Given the description of an element on the screen output the (x, y) to click on. 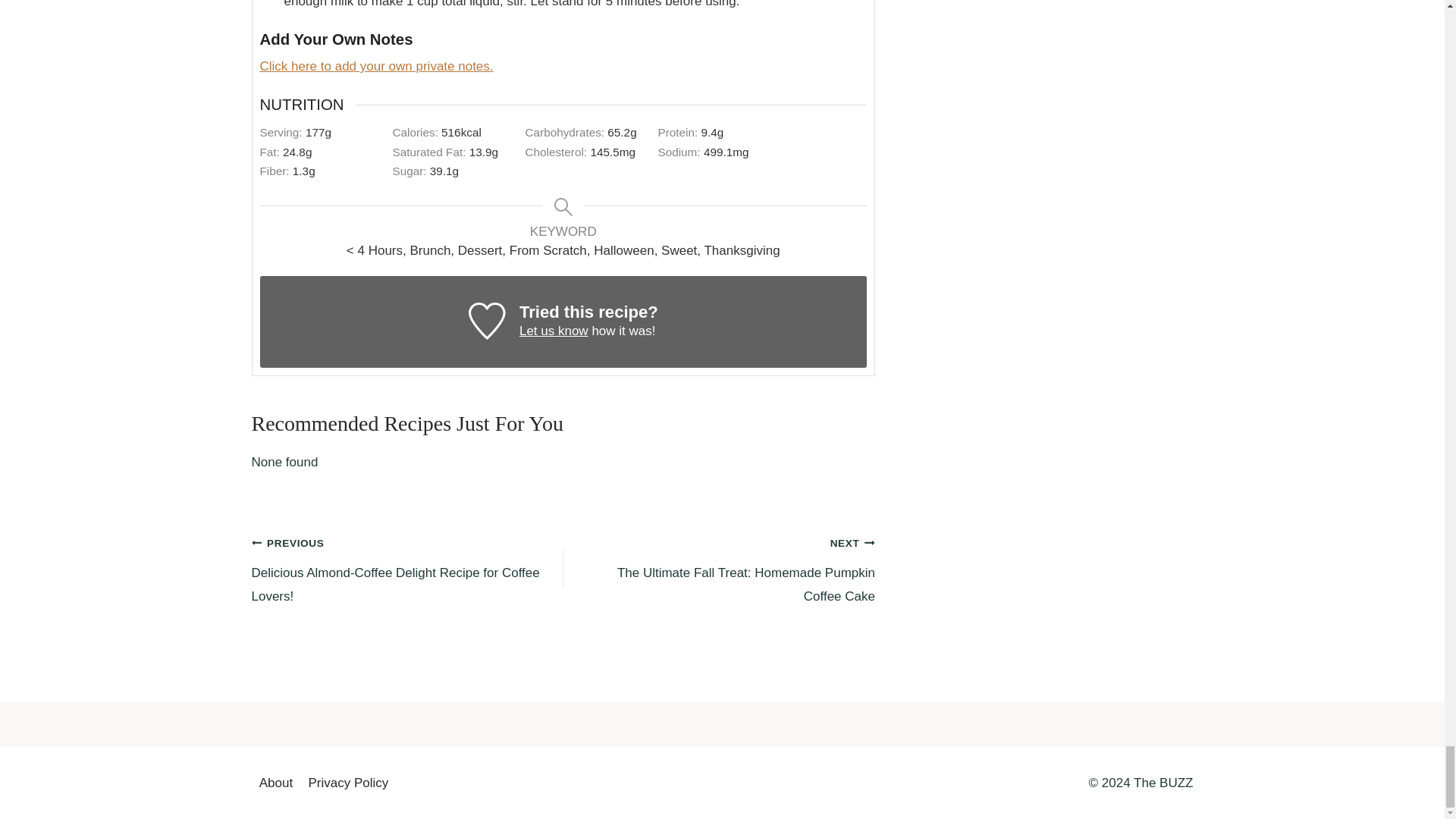
Click here to add your own private notes. (719, 569)
Let us know (376, 65)
